Given the description of an element on the screen output the (x, y) to click on. 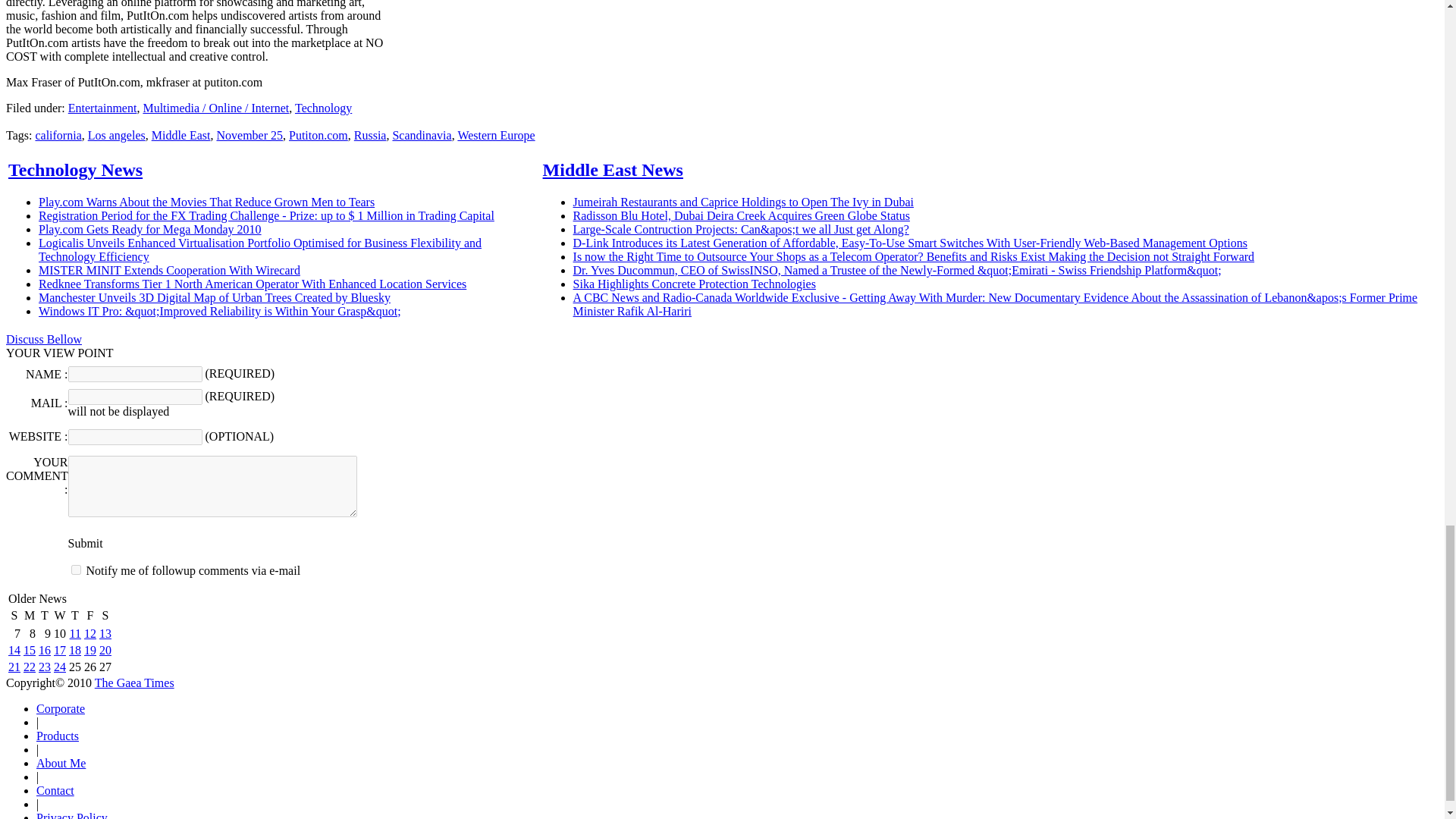
Putiton.com (317, 134)
subscribe (76, 569)
Middle East (181, 134)
Technology (323, 107)
california (57, 134)
Entertainment (102, 107)
November 25 (248, 134)
Los angeles (116, 134)
